Given the description of an element on the screen output the (x, y) to click on. 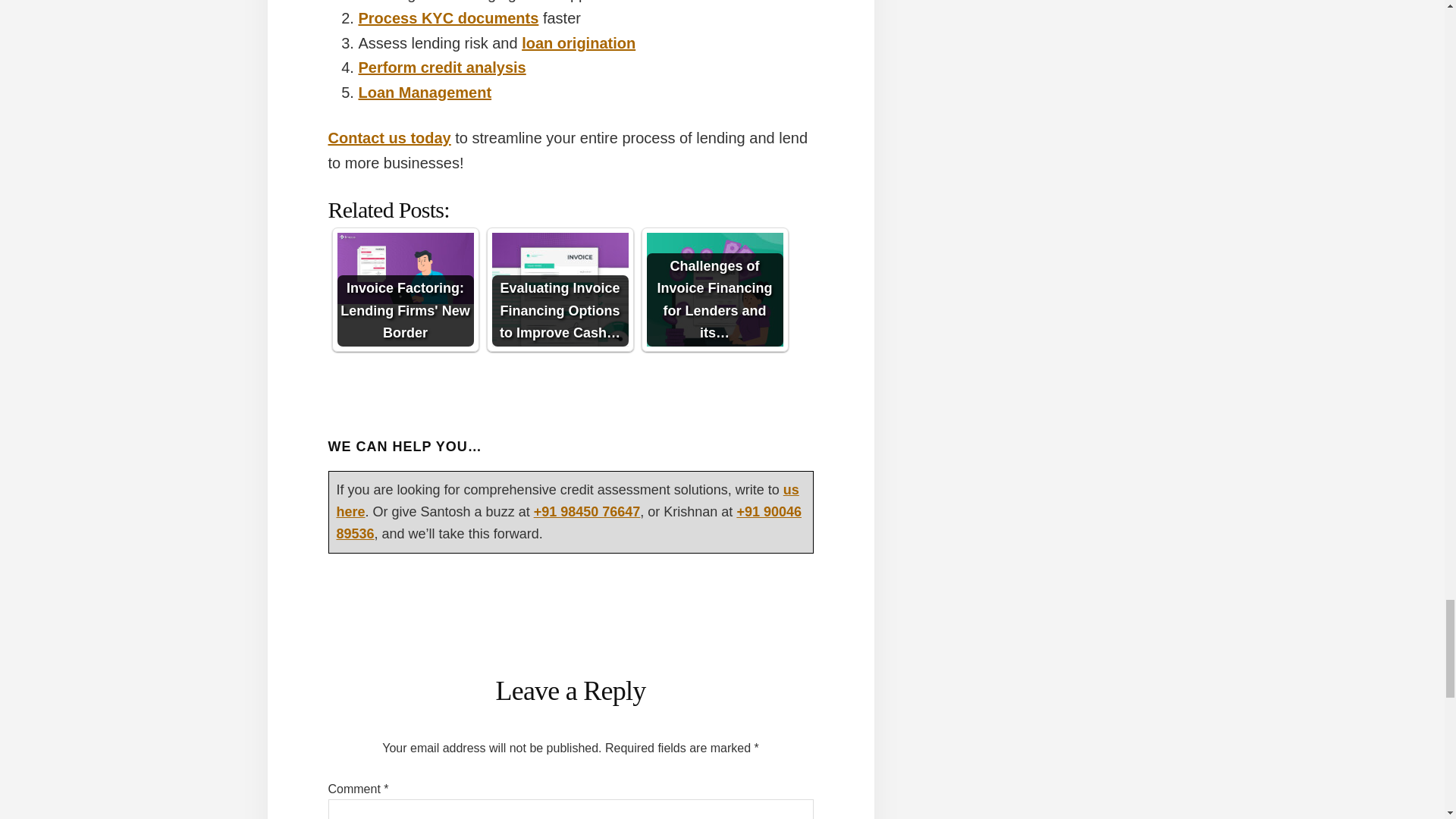
Contact us today (388, 137)
Invoice Factoring: Lending Firms' New Border (404, 267)
Invoice Factoring: Lending Firms' New Border (404, 289)
Process KYC documents (448, 17)
Perform credit analysis (441, 67)
us here (567, 500)
loan origination (577, 43)
Loan Management (425, 92)
